Given the description of an element on the screen output the (x, y) to click on. 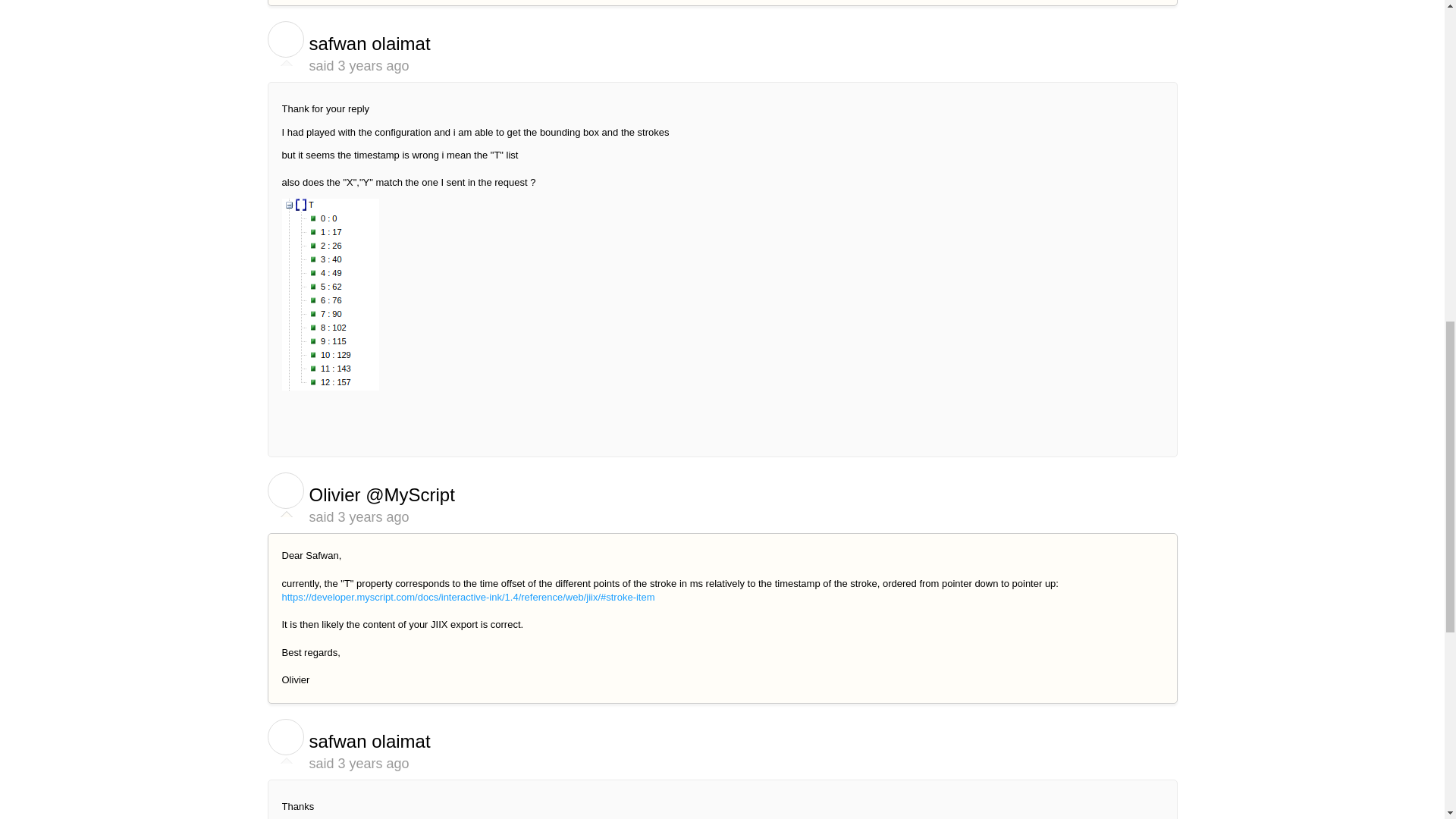
Wed, 10 Mar, 2021 at  3:07 PM (373, 516)
Wed, 10 Mar, 2021 at 10:49 AM (373, 65)
Wed, 31 Mar, 2021 at  4:44 PM (373, 763)
